Given the description of an element on the screen output the (x, y) to click on. 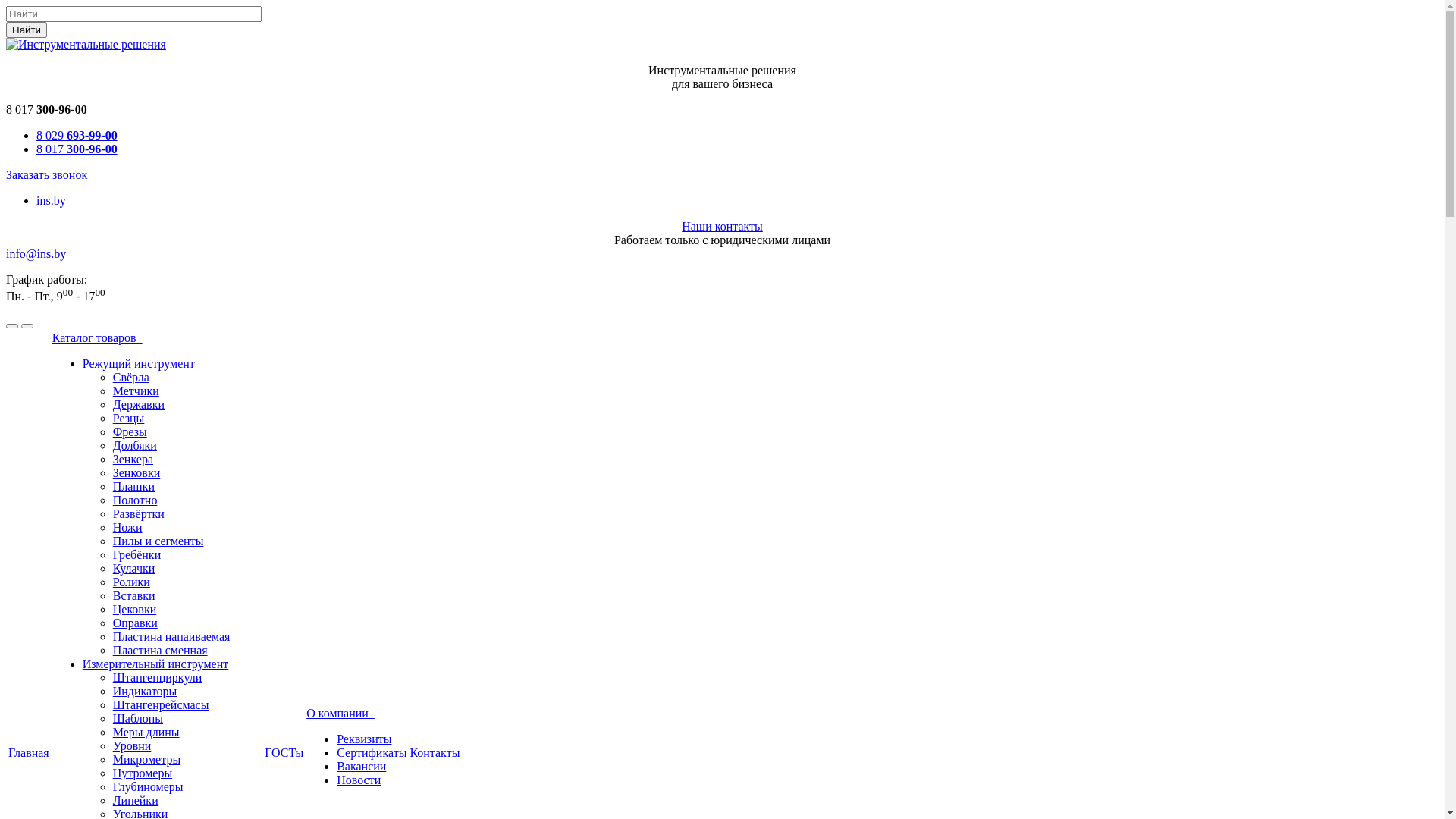
8 017 300-96-00 Element type: text (76, 148)
info@ins.by Element type: text (35, 253)
ins.by Element type: text (50, 200)
8 029 693-99-00 Element type: text (76, 134)
